Given the description of an element on the screen output the (x, y) to click on. 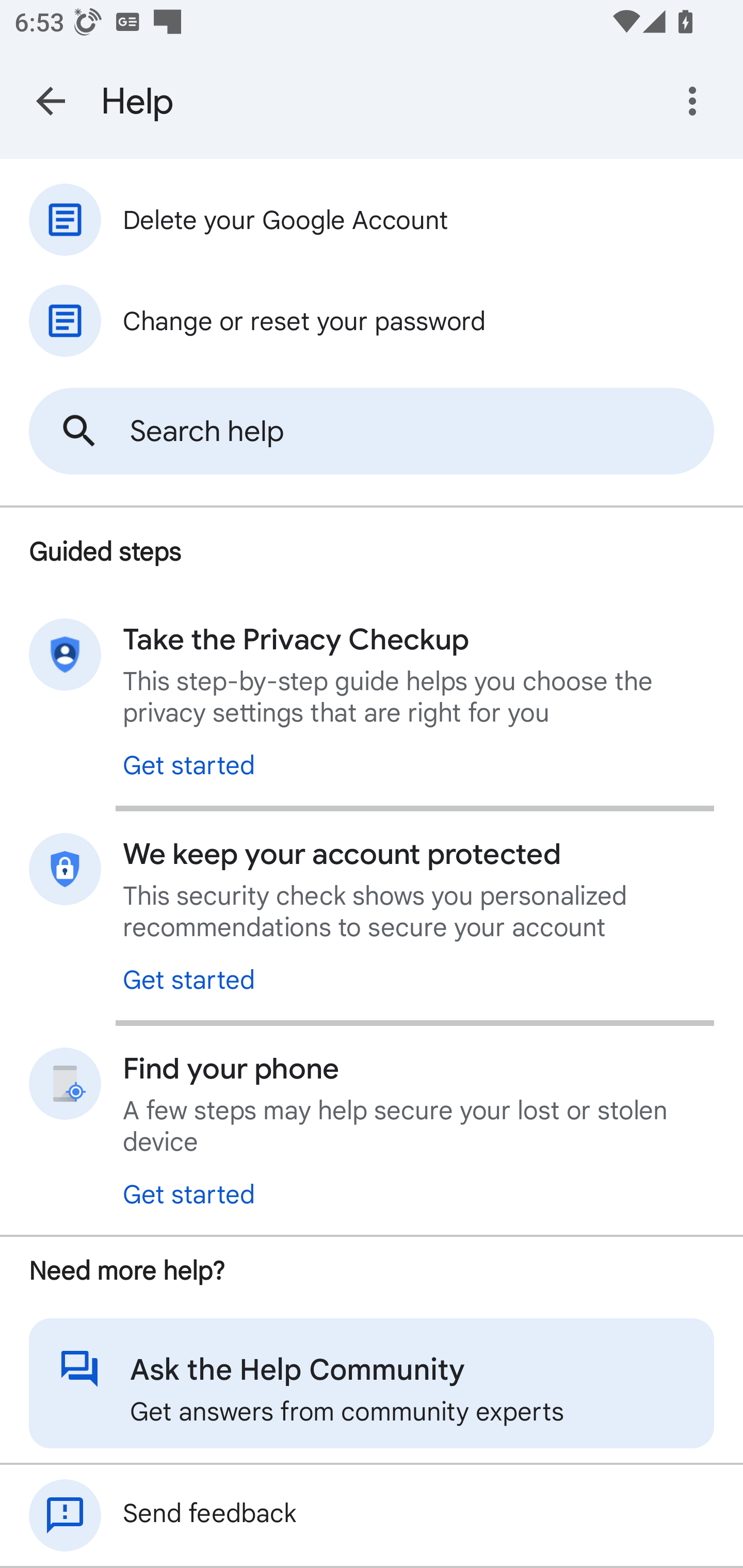
Navigate up (50, 101)
More options (696, 101)
Delete your Google Account (371, 219)
Change or reset your password (371, 320)
Search help (371, 431)
Send feedback (371, 1515)
